Given the description of an element on the screen output the (x, y) to click on. 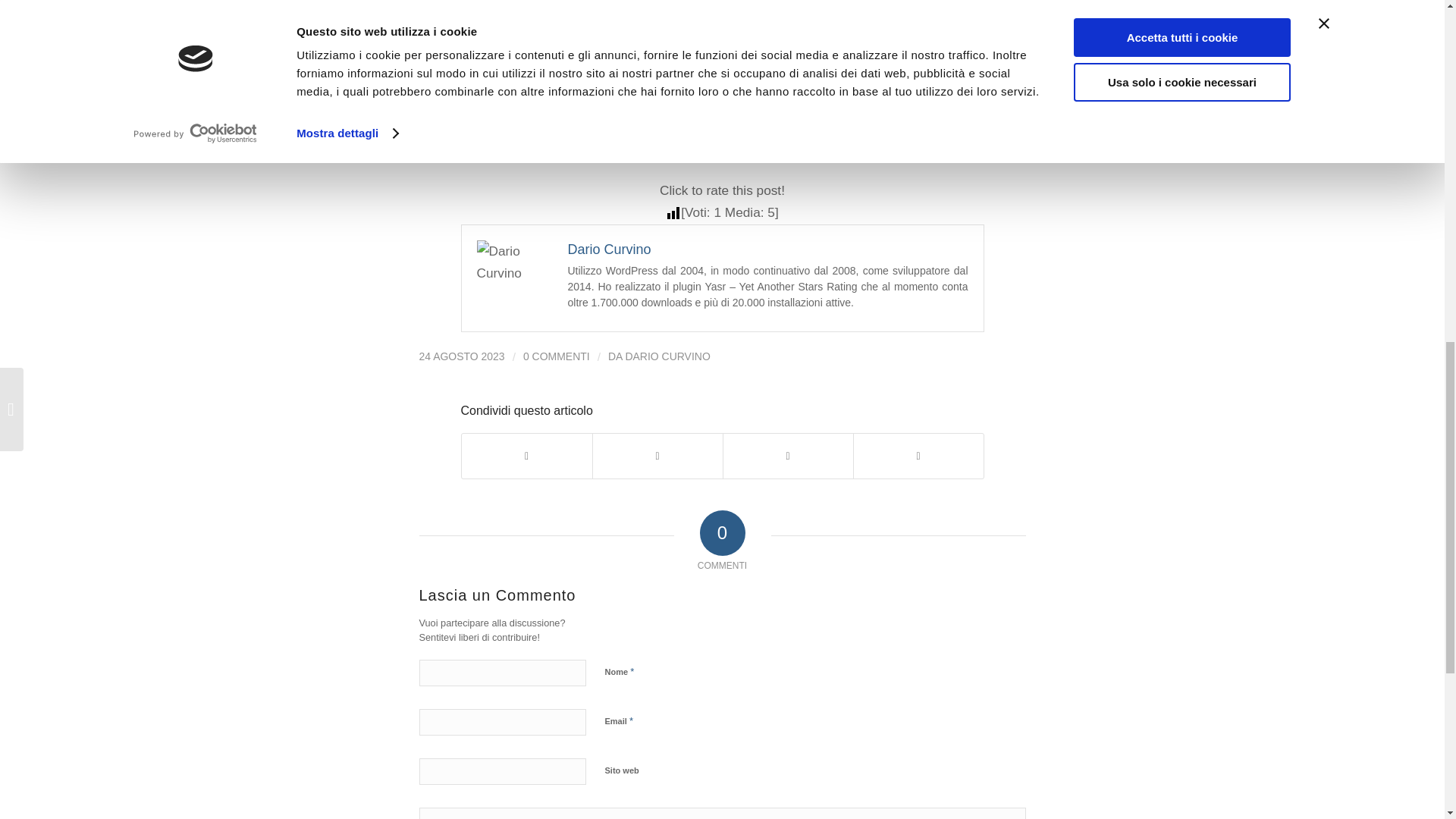
Articoli scritti da Dario Curvino (667, 356)
Dario Curvino (608, 249)
PARETO Digital (510, 56)
